Given the description of an element on the screen output the (x, y) to click on. 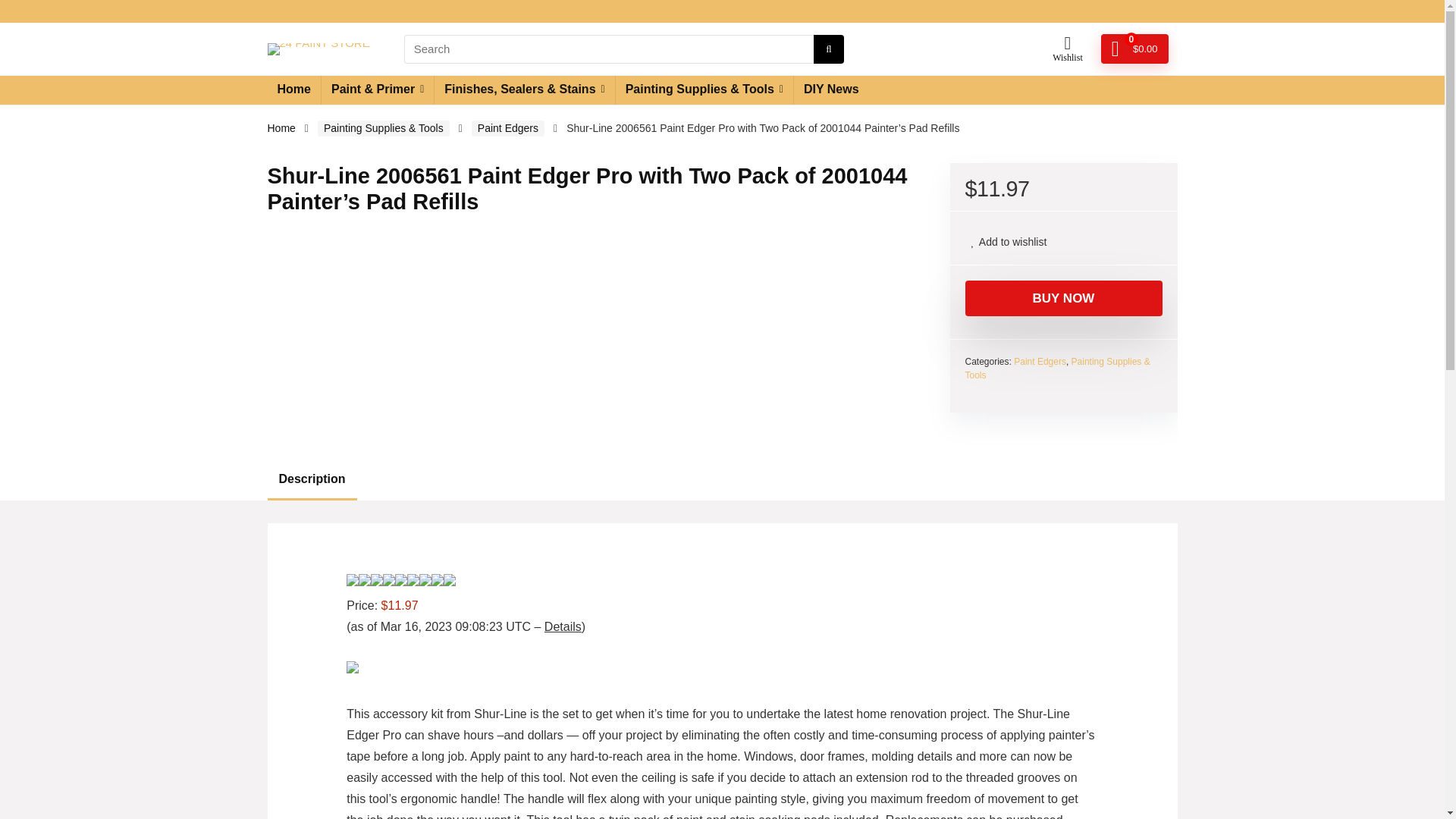
Description (311, 491)
Paint Edgers (507, 141)
DIY News (831, 102)
Home (280, 141)
Home (293, 102)
BUY NOW (1062, 311)
Paint Edgers (1039, 374)
Description (721, 491)
